Given the description of an element on the screen output the (x, y) to click on. 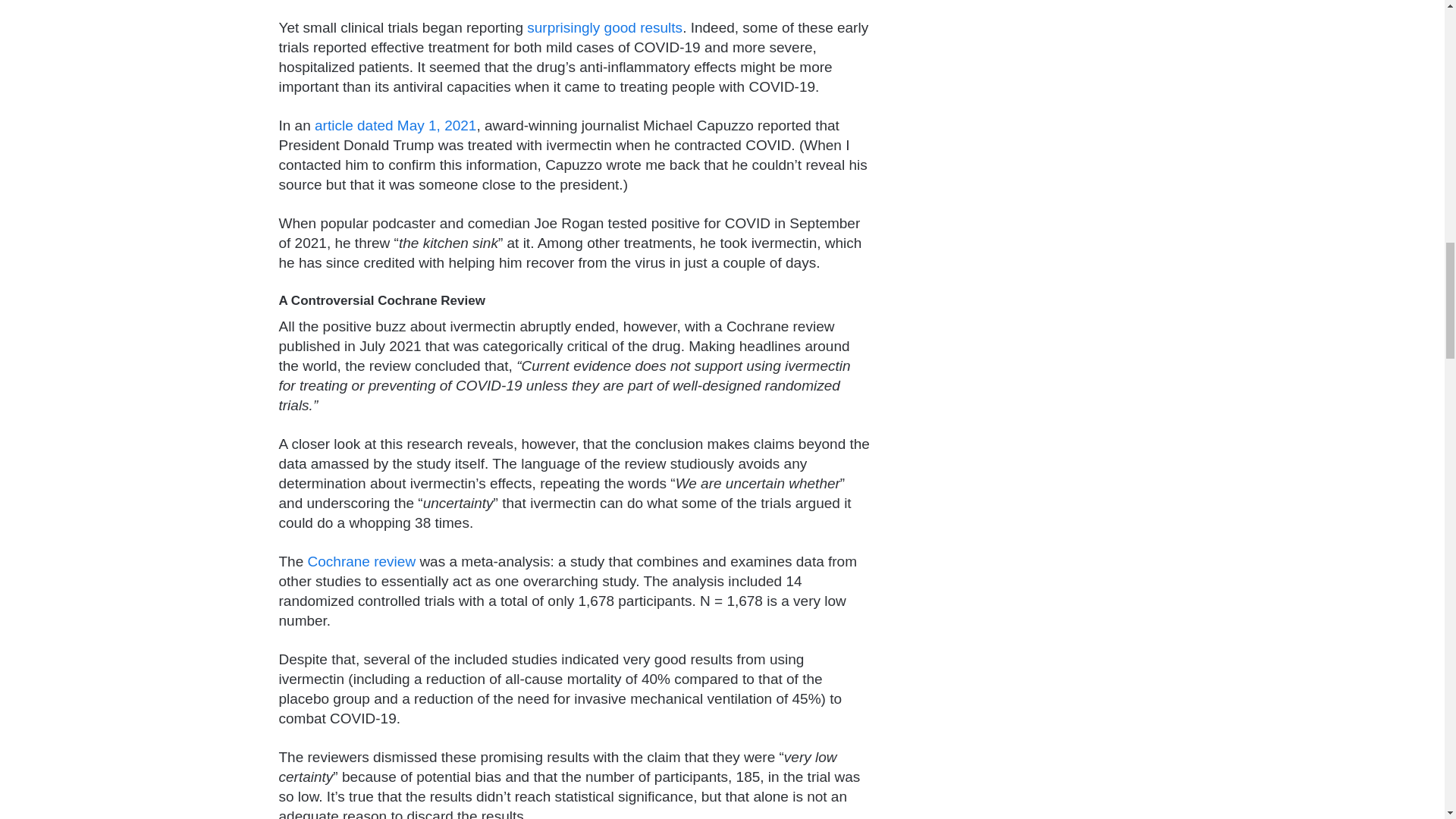
surprisingly good results (604, 27)
article dated May 1, 2021 (395, 125)
Cochrane review (361, 561)
